Given the description of an element on the screen output the (x, y) to click on. 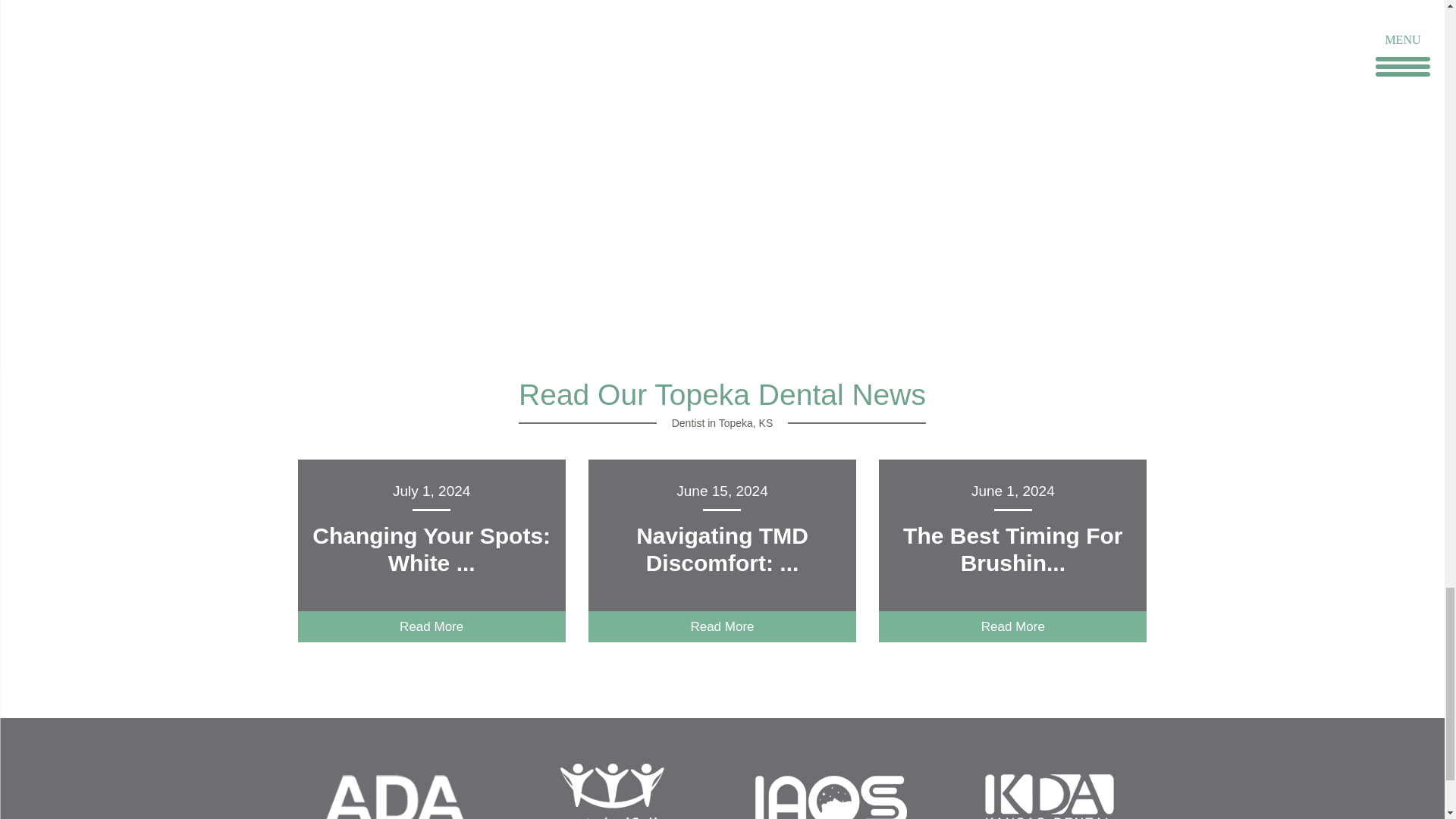
Read More (722, 626)
The Best Timing For Brushin... (1012, 549)
Navigating TMD Discomfort: ... (722, 549)
Read More (1013, 626)
Read More (430, 626)
Changing Your Spots: White ... (431, 549)
